Given the description of an element on the screen output the (x, y) to click on. 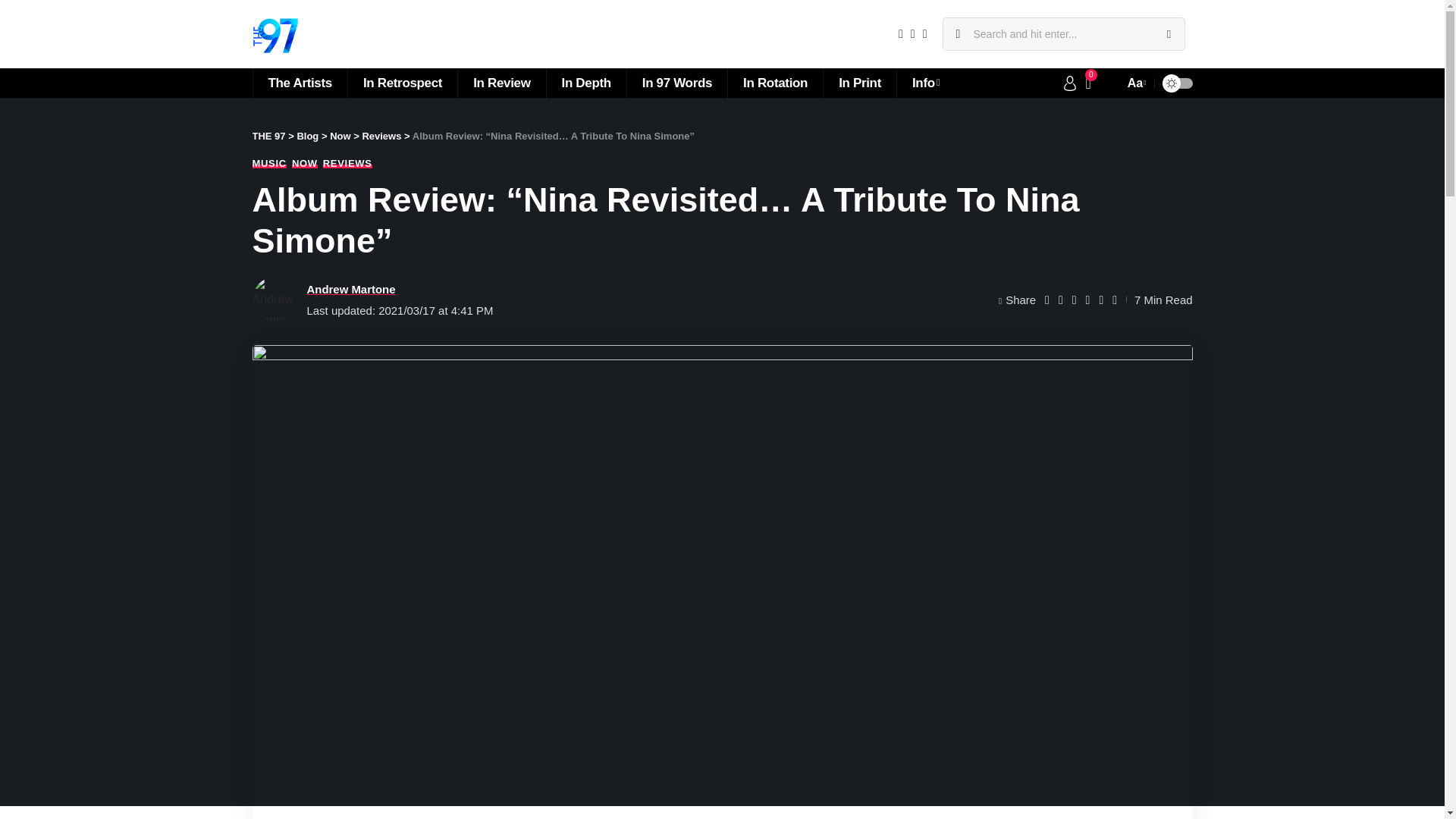
The Artists (298, 82)
Search (1168, 33)
THE 97 (274, 33)
In Print (859, 82)
In Retrospect (402, 82)
In Review (500, 82)
New Music Reviews (500, 82)
In Rotation (774, 82)
For the Nostalgia (402, 82)
In Depth (586, 82)
